Given the description of an element on the screen output the (x, y) to click on. 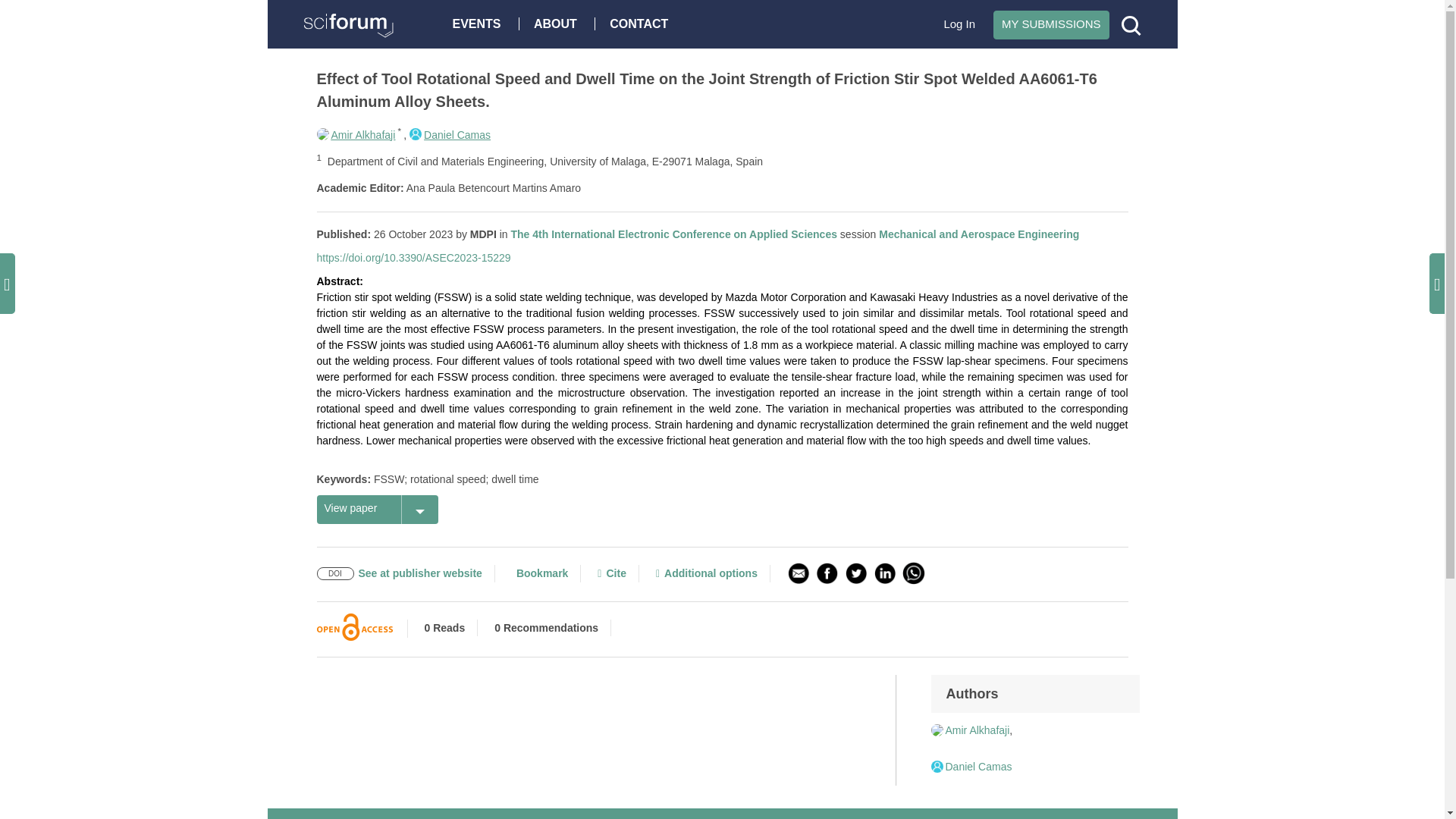
MY SUBMISSIONS (1050, 24)
CONTACT (641, 23)
ABOUT (558, 23)
Daniel Camas (449, 134)
Amir Alkhafaji (356, 134)
EVENTS (480, 23)
